Given the description of an element on the screen output the (x, y) to click on. 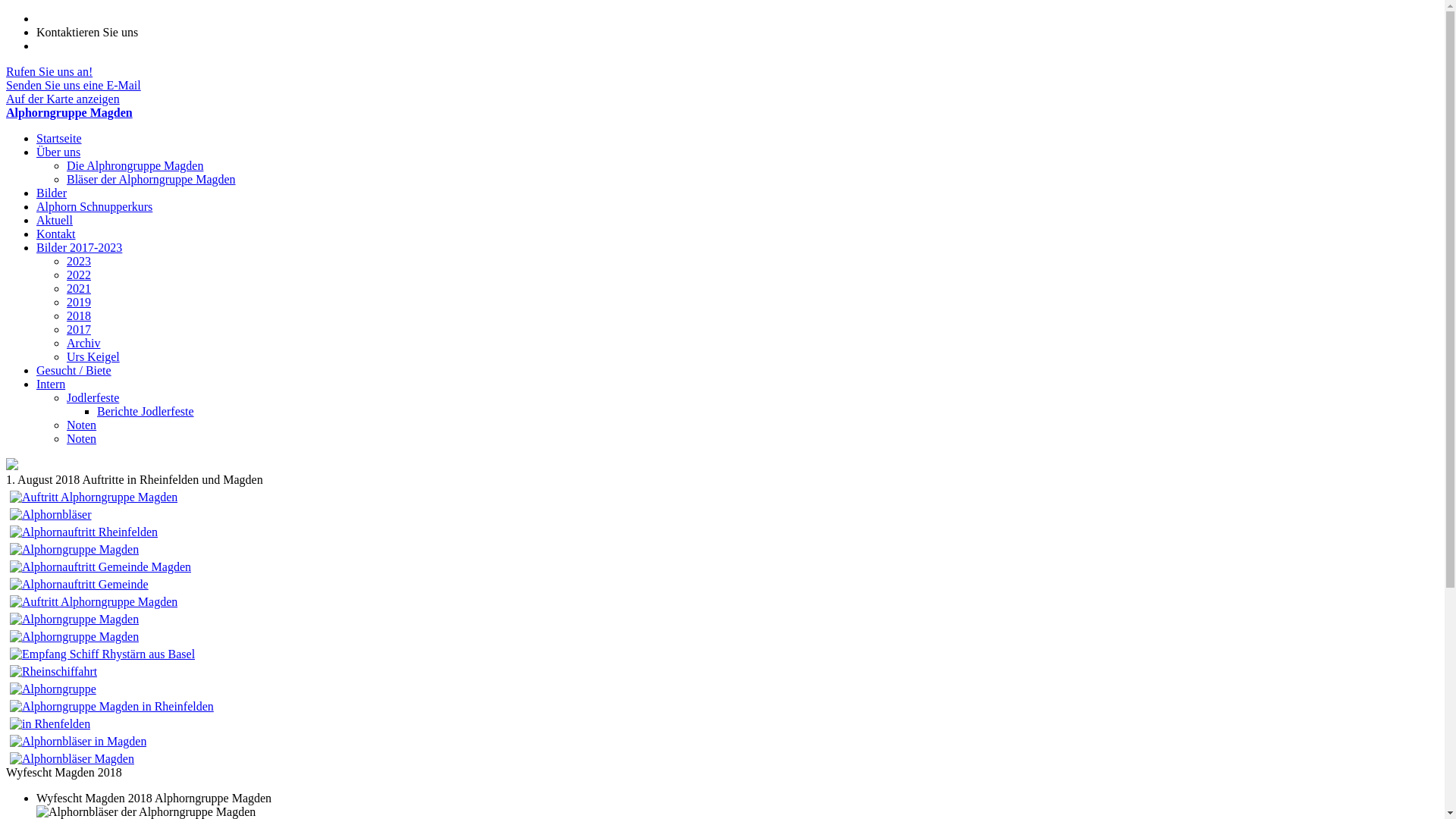
Rufen Sie uns an! Element type: text (49, 71)
2022 Element type: text (78, 274)
Auf der Karte anzeigen Element type: text (62, 98)
Alphorngruppe Magden Element type: text (722, 112)
1. Augustfeier Alphorngruppe Magden Element type: hover (78, 583)
Urs Keigel Element type: text (92, 356)
Die Alphrongruppe Magden Element type: text (134, 165)
Archiv Element type: text (83, 342)
Kontakt Element type: text (55, 233)
Noten Element type: text (81, 438)
Aktuell Element type: text (54, 219)
1. Augustfeier, Magden mit Alphorngruppe Element type: hover (77, 740)
1. August 2018 Altersheim Rheinfelden Element type: hover (83, 531)
Berichte Jodlerfeste Element type: text (145, 410)
Bilder Element type: text (51, 192)
1. August 2018 Magden Auftritt Element type: hover (100, 566)
Intern Element type: text (50, 383)
Alphorn Schnupperkurs Element type: text (94, 206)
Senden Sie uns eine E-Mail Element type: text (73, 84)
Bilder 2017-2023 Element type: text (79, 247)
Jodlerfeste Element type: text (92, 397)
Startseite Element type: text (58, 137)
1. August 2018 Altersheim Rheinfelden Element type: hover (93, 496)
2023 Element type: text (78, 260)
2018 Element type: text (78, 315)
1. August in Rheinfelden Nordwestschweiz Element type: hover (73, 636)
2017 Element type: text (78, 329)
1. Augustfeier Alphorngruppe Magden Element type: hover (49, 723)
Noten Element type: text (81, 424)
2019 Element type: text (78, 301)
2021 Element type: text (78, 288)
1. August in Rheinfelden Element type: hover (93, 601)
Gesucht / Biete Element type: text (73, 370)
1. August 2018 Altersheim Rheinfelden Element type: hover (50, 514)
1. August im Stettli Rheinnfelden Element type: hover (73, 618)
